Given the description of an element on the screen output the (x, y) to click on. 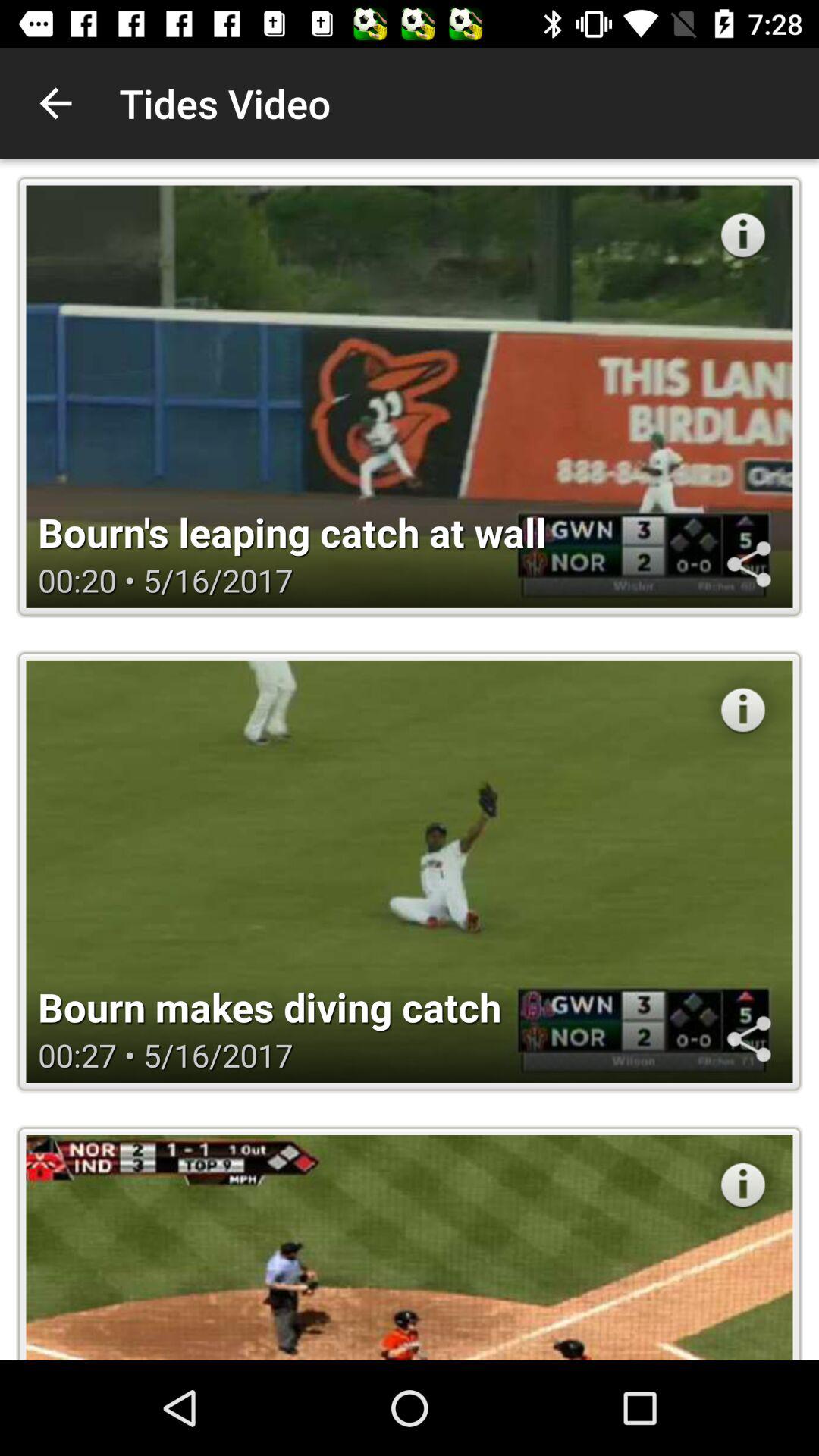
click the app to the left of the tides video icon (55, 103)
